Given the description of an element on the screen output the (x, y) to click on. 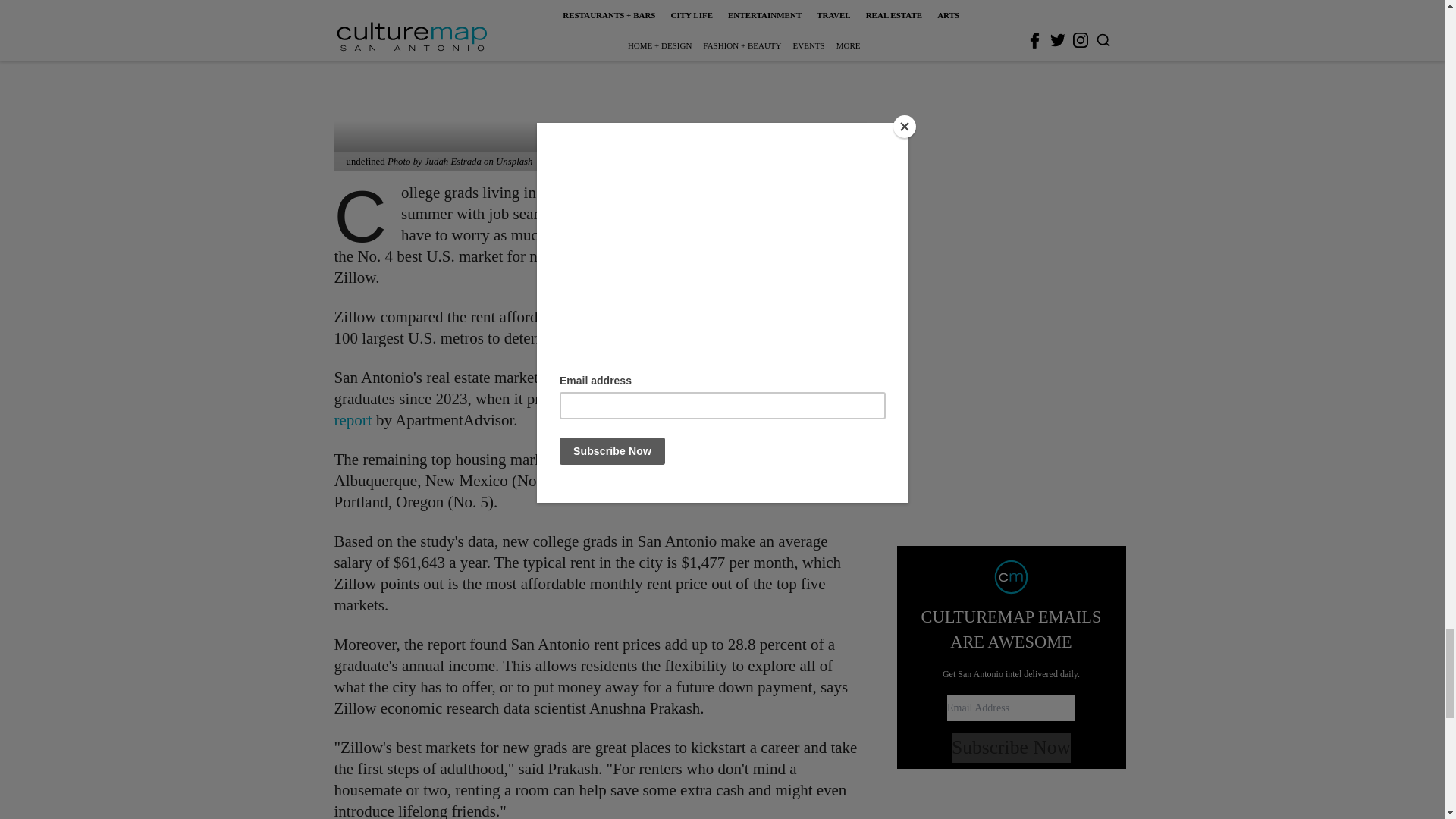
Subscribe Now (1011, 148)
